Given the description of an element on the screen output the (x, y) to click on. 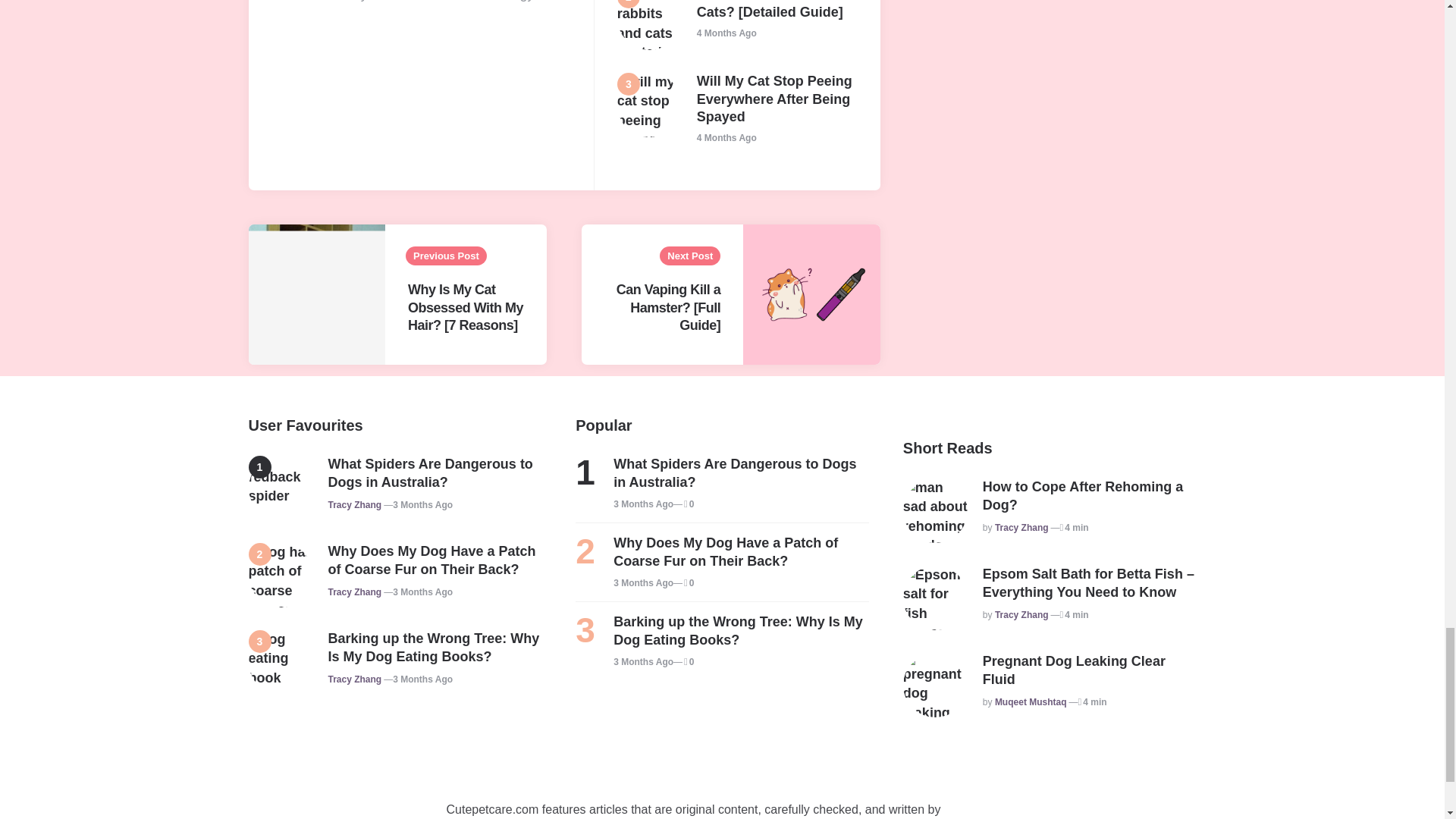
Will My Cat Stop Peeing Everywhere After Being Spayed (777, 99)
